Given the description of an element on the screen output the (x, y) to click on. 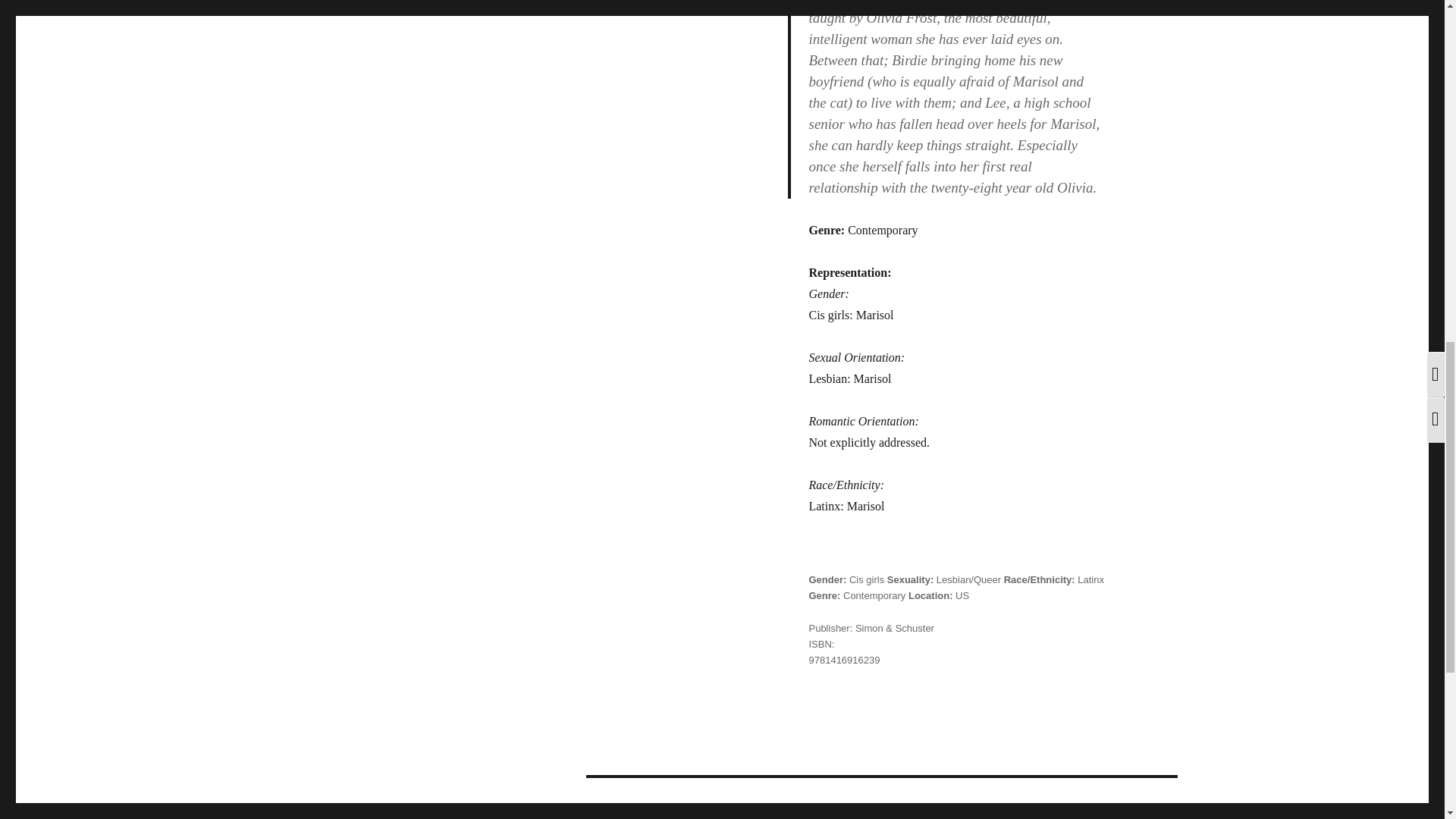
Latinx (1090, 579)
Cis girls (865, 579)
US (962, 595)
Contemporary (874, 595)
